Given the description of an element on the screen output the (x, y) to click on. 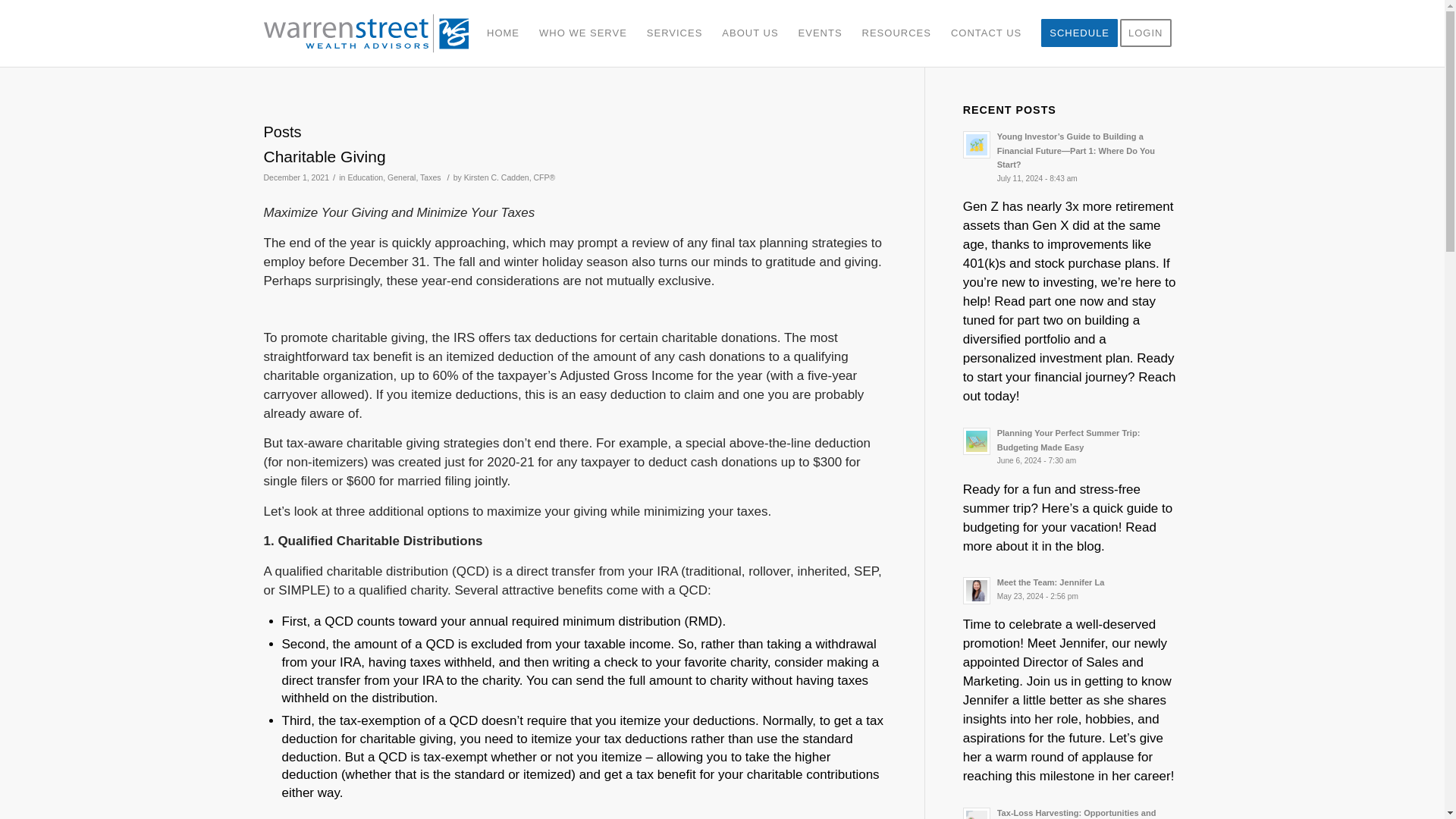
Permanent Link: Charitable Giving (1071, 589)
EVENTS (324, 156)
CONTACT US (820, 33)
General (985, 33)
SCHEDULE (400, 176)
Taxes (1078, 33)
Education (430, 176)
color (364, 176)
RESOURCES (371, 33)
Meet the Team: Jennifer La (895, 33)
WHO WE SERVE (1071, 589)
ABOUT US (583, 33)
